Given the description of an element on the screen output the (x, y) to click on. 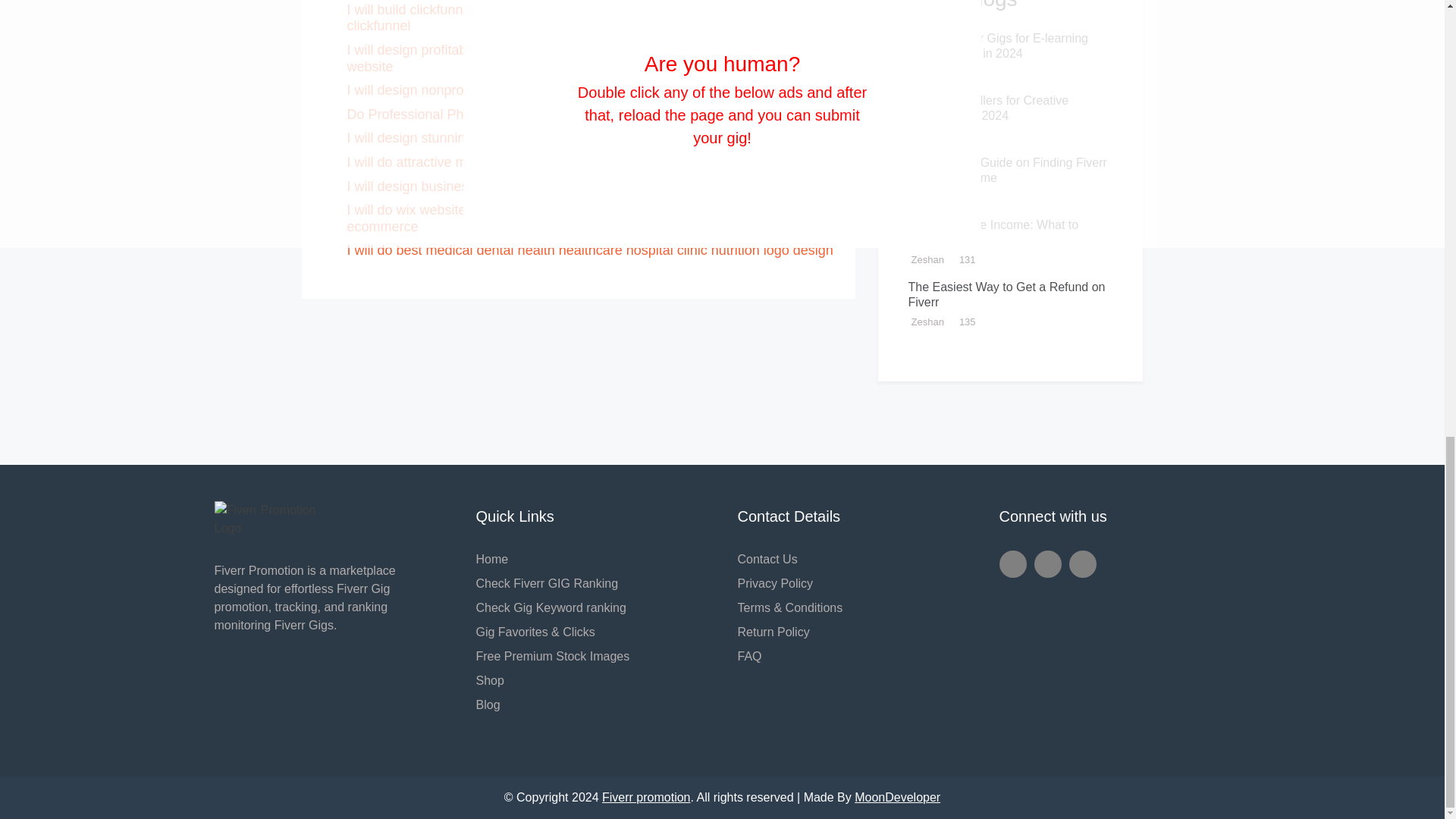
I will do attractive modern minimalist business logo design (522, 161)
